Given the description of an element on the screen output the (x, y) to click on. 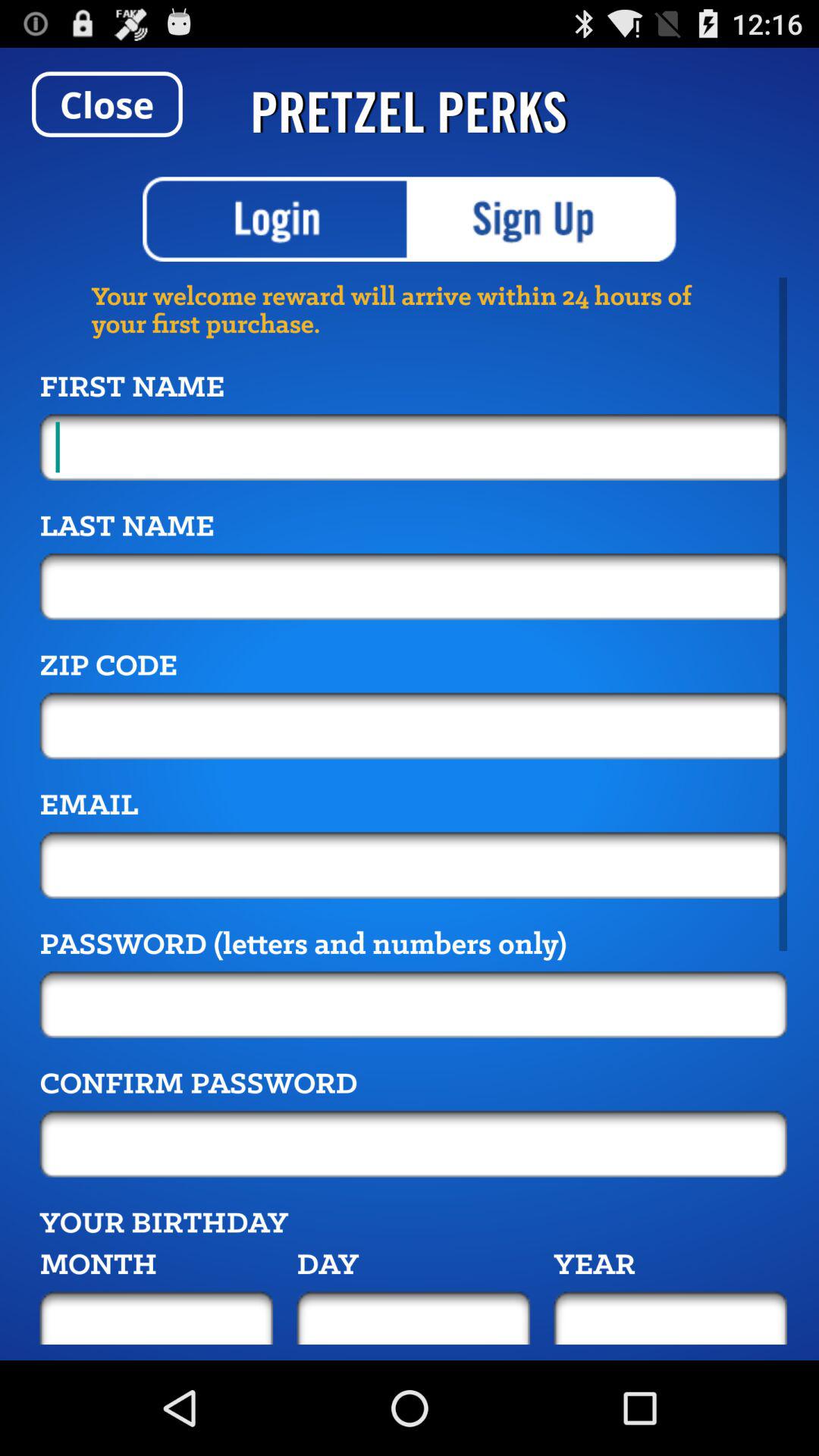
enter birth month (156, 1317)
